Given the description of an element on the screen output the (x, y) to click on. 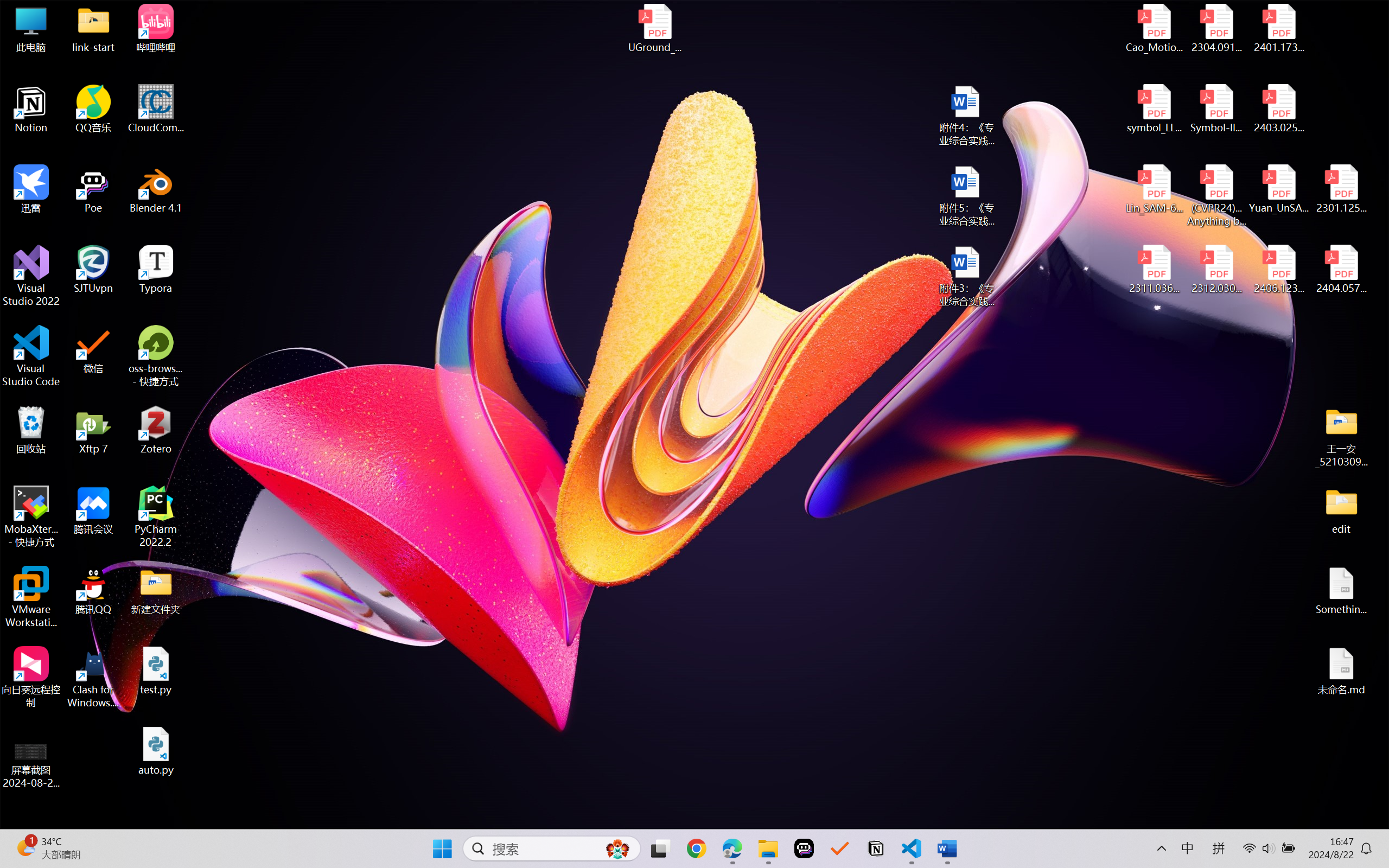
2304.09121v3.pdf (1216, 28)
2401.17399v1.pdf (1278, 28)
Visual Studio Code (31, 355)
edit (1340, 510)
(CVPR24)Matching Anything by Segmenting Anything.pdf (1216, 195)
2406.12373v2.pdf (1278, 269)
test.py (156, 670)
